Given the description of an element on the screen output the (x, y) to click on. 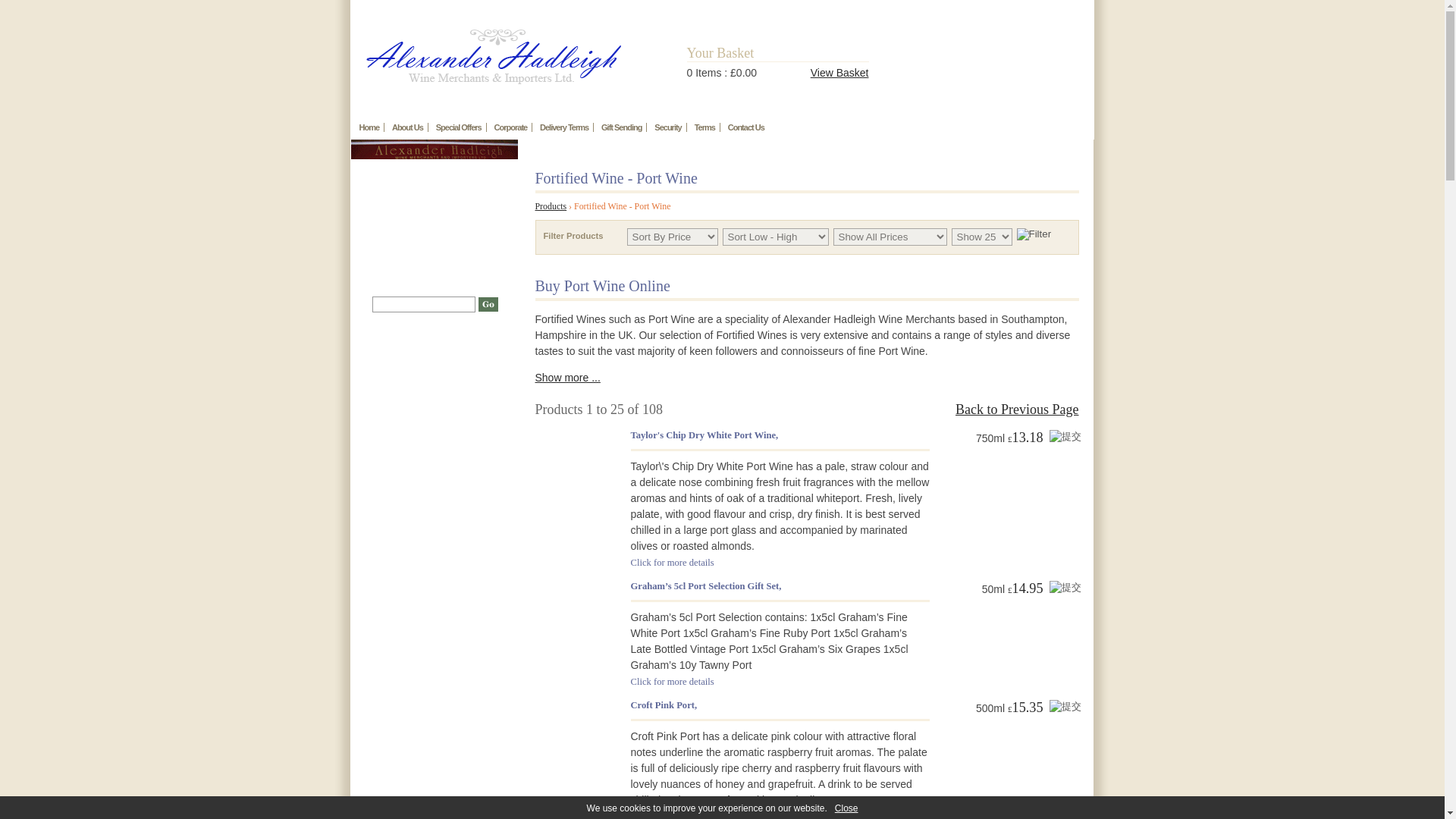
Delivery Terms (564, 126)
Home (370, 126)
All Wines Online (433, 350)
About Us (407, 126)
Security (667, 126)
Corporate (510, 126)
Terms (705, 126)
Gift Sending (621, 126)
Special Offers (458, 126)
Product Categories (401, 328)
All Wines Online (433, 350)
View Basket (839, 72)
Contact Us (745, 126)
